Given the description of an element on the screen output the (x, y) to click on. 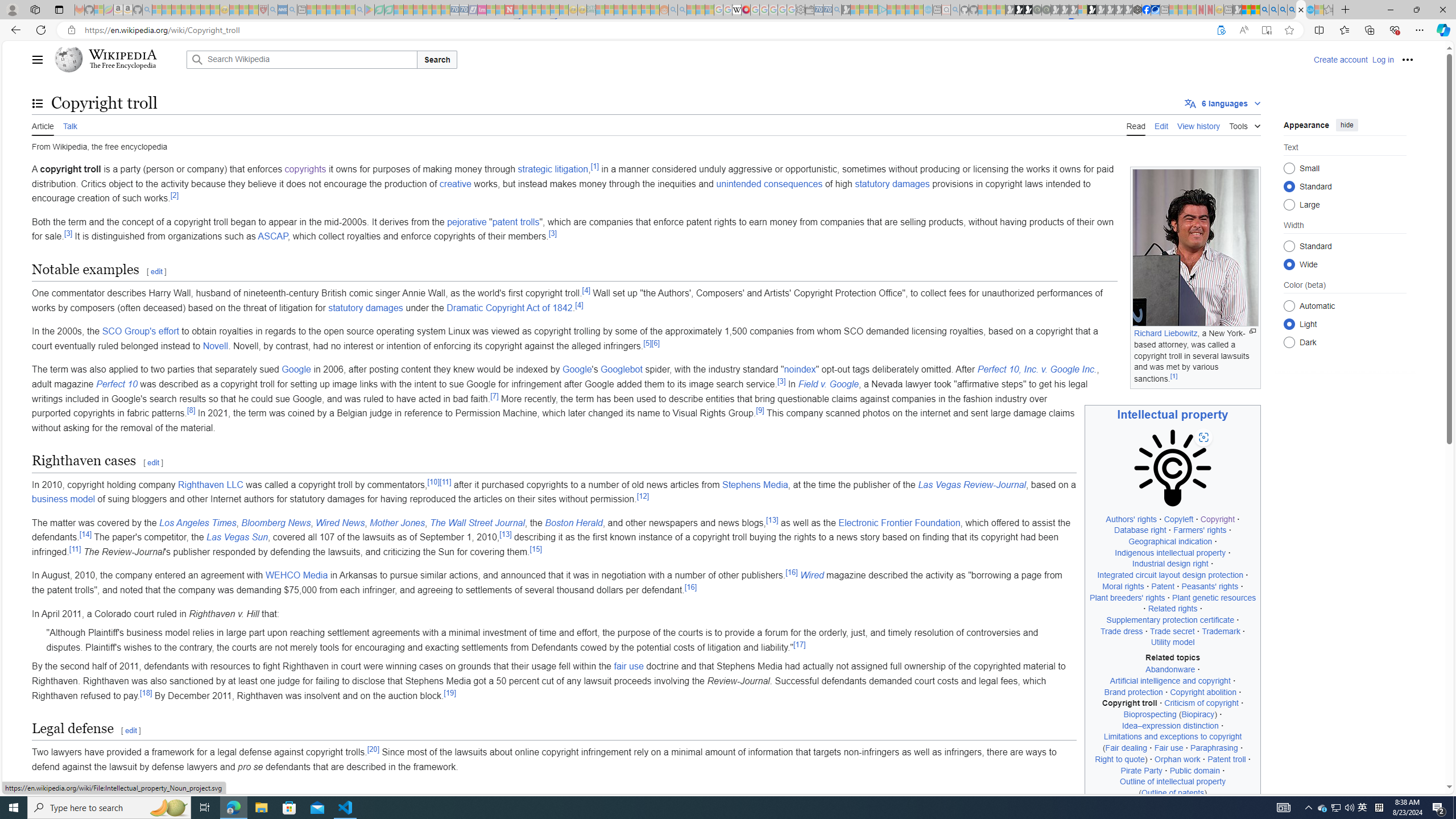
[1] (593, 165)
(Outline of patents) (1172, 792)
Wide (1289, 263)
Indigenous intellectual property (1170, 552)
Integrated circuit layout design protection (1170, 574)
Moral rights (1123, 586)
Copyright troll - Wikipedia (1300, 9)
Bioprospecting (1149, 714)
